Given the description of an element on the screen output the (x, y) to click on. 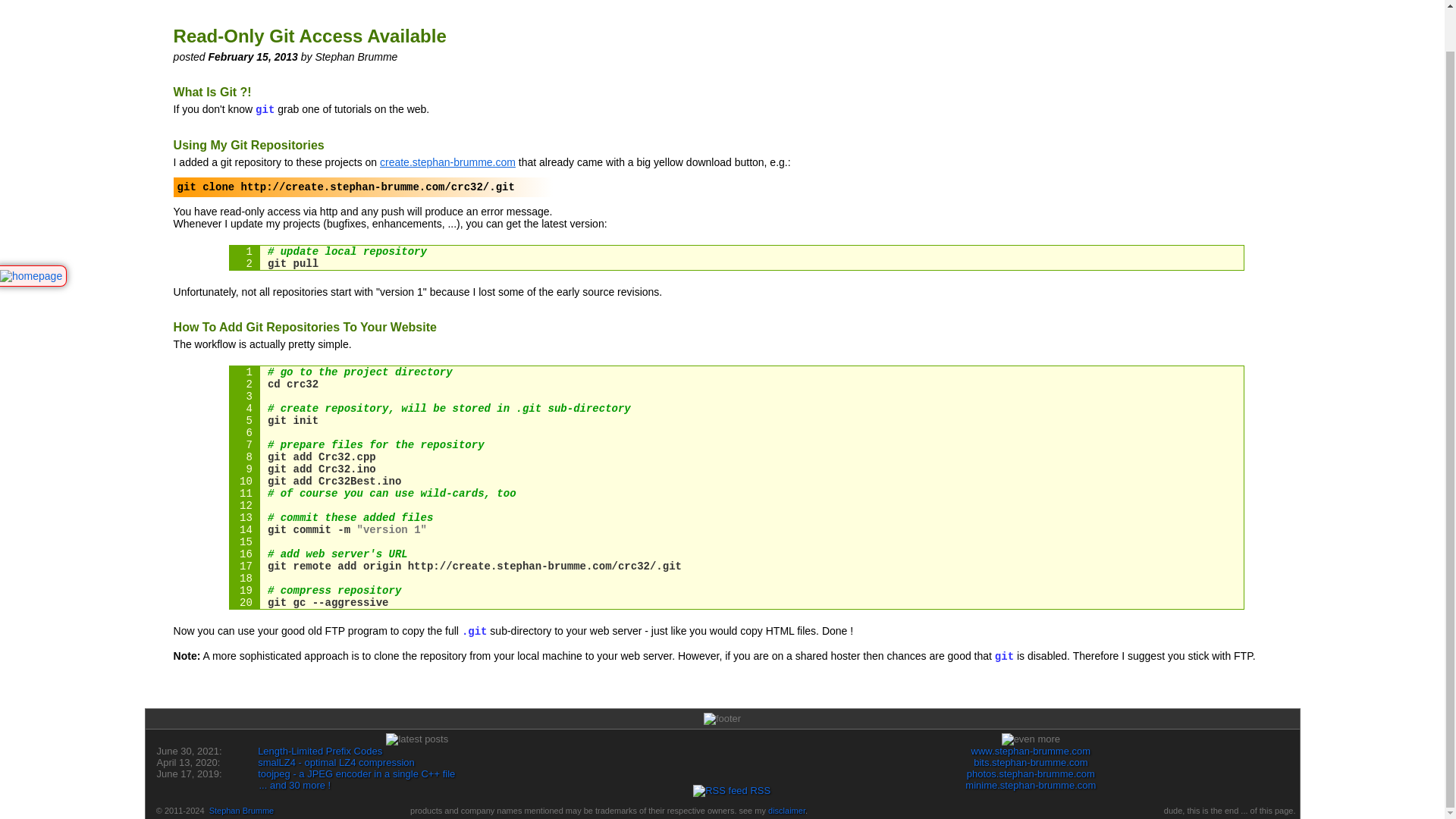
line 5 (736, 420)
line 3 (736, 396)
line 2 (736, 263)
line 14 (736, 530)
line 16 (736, 553)
line 8 (736, 457)
RSS (731, 790)
line 1 (736, 251)
bits.stephan-brumme.com (1030, 762)
